Given the description of an element on the screen output the (x, y) to click on. 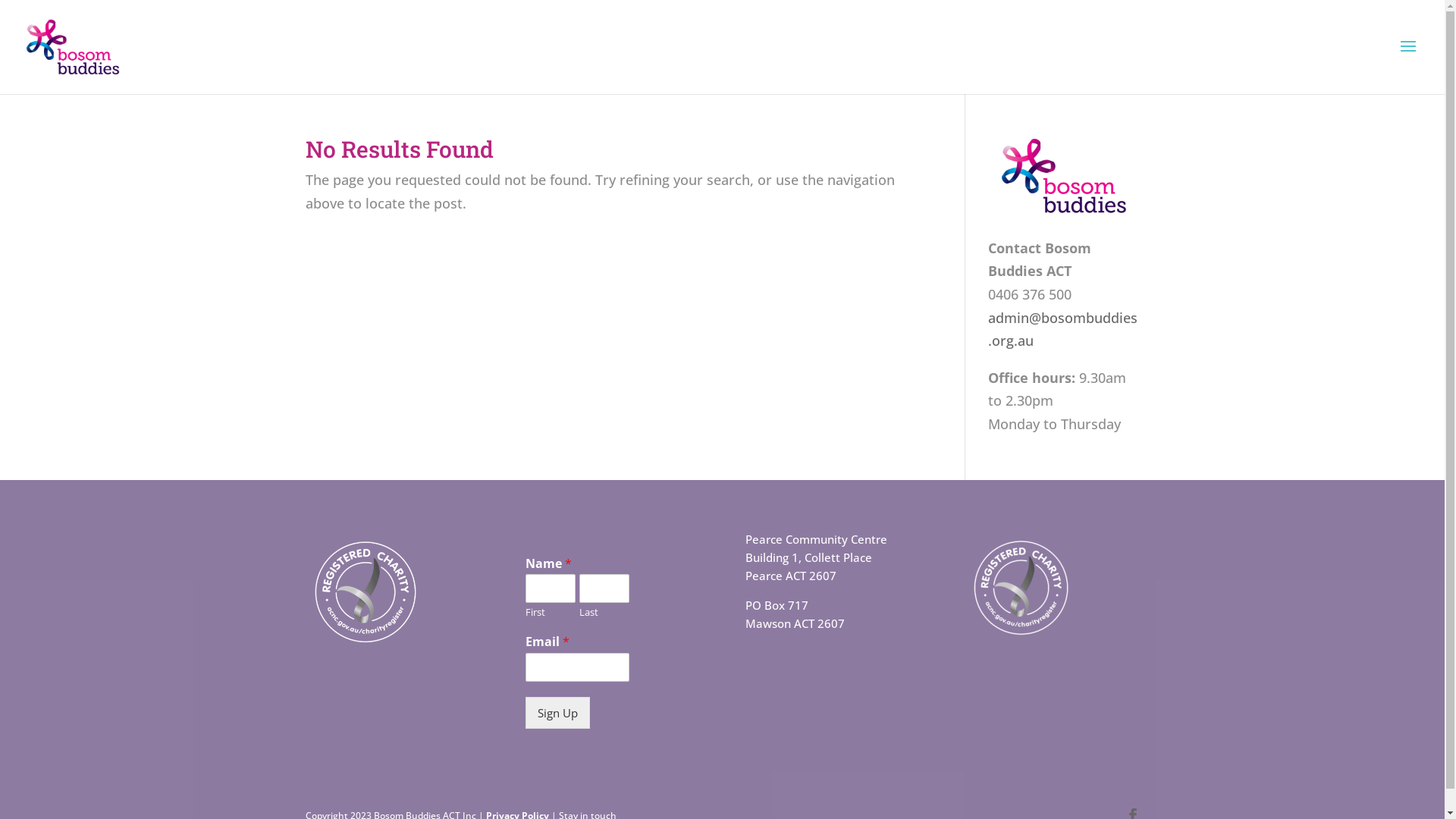
admin@bosombuddies.org.au Element type: text (1062, 329)
Sign Up Element type: text (557, 712)
